Given the description of an element on the screen output the (x, y) to click on. 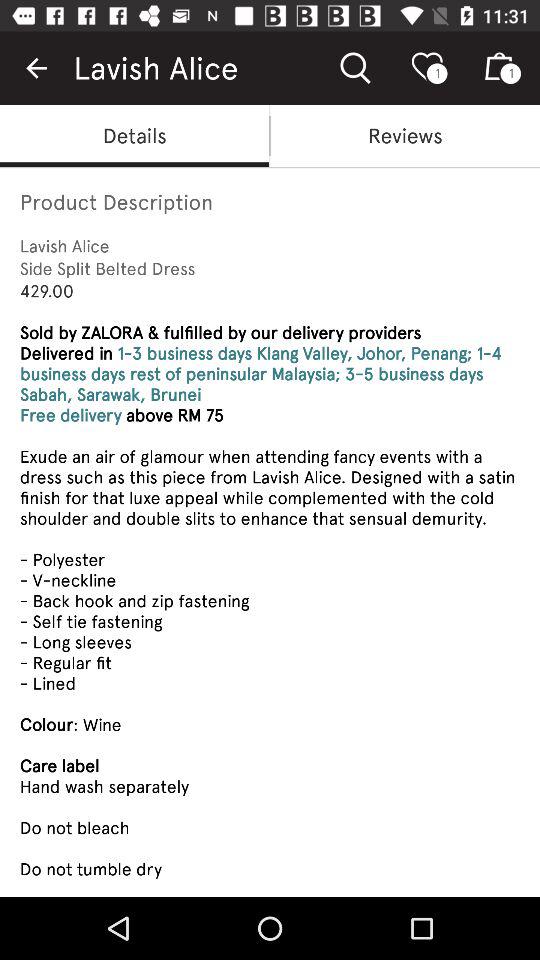
press reviews (405, 135)
